Given the description of an element on the screen output the (x, y) to click on. 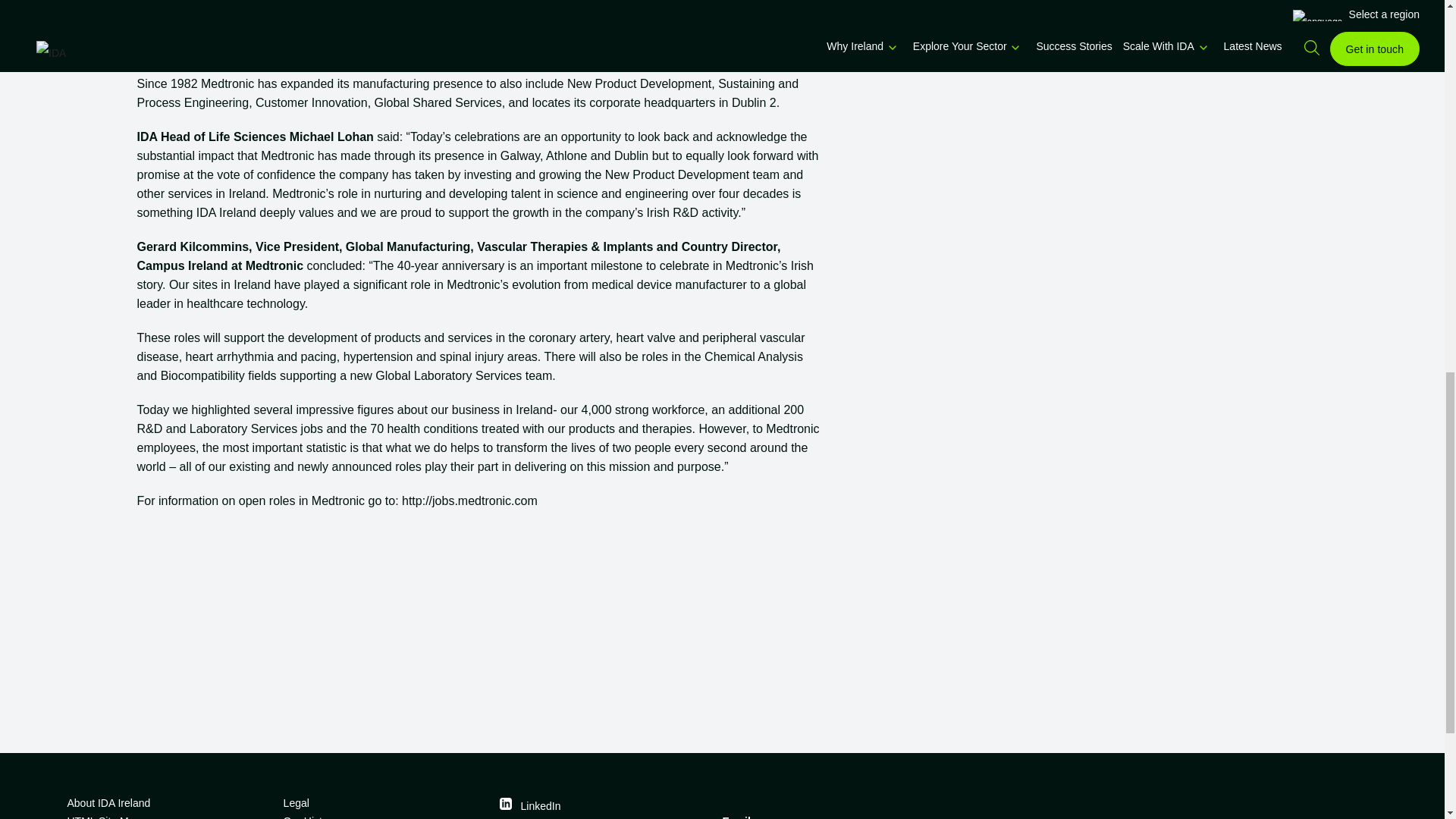
Our History (384, 815)
Legal (384, 802)
About IDA Ireland (167, 802)
HTML Site Map (167, 815)
